Given the description of an element on the screen output the (x, y) to click on. 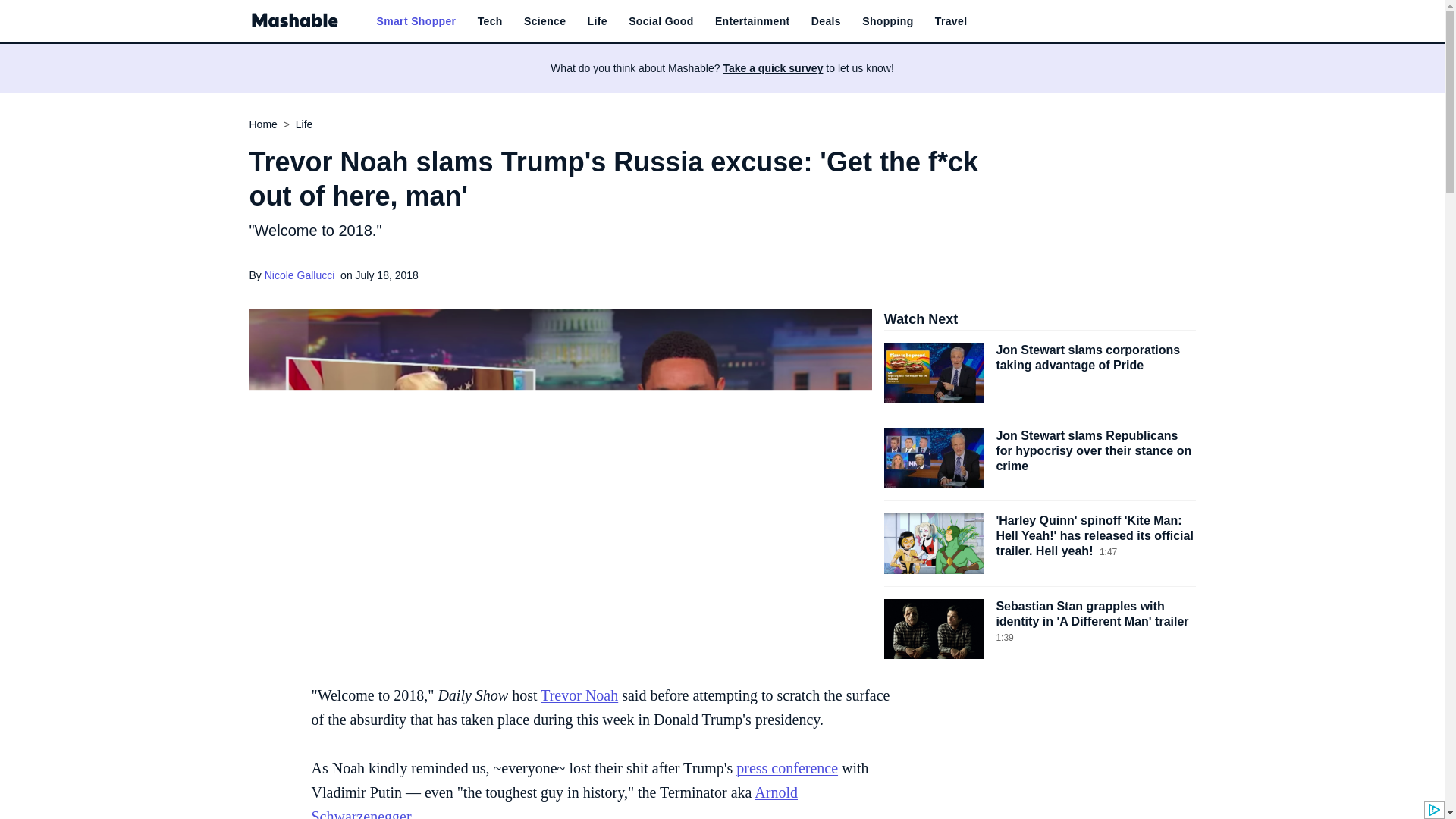
Science (545, 21)
Smart Shopper (415, 21)
Tech (489, 21)
Travel (951, 21)
Shopping (886, 21)
Entertainment (752, 21)
Deals (825, 21)
Life (597, 21)
Social Good (661, 21)
